Given the description of an element on the screen output the (x, y) to click on. 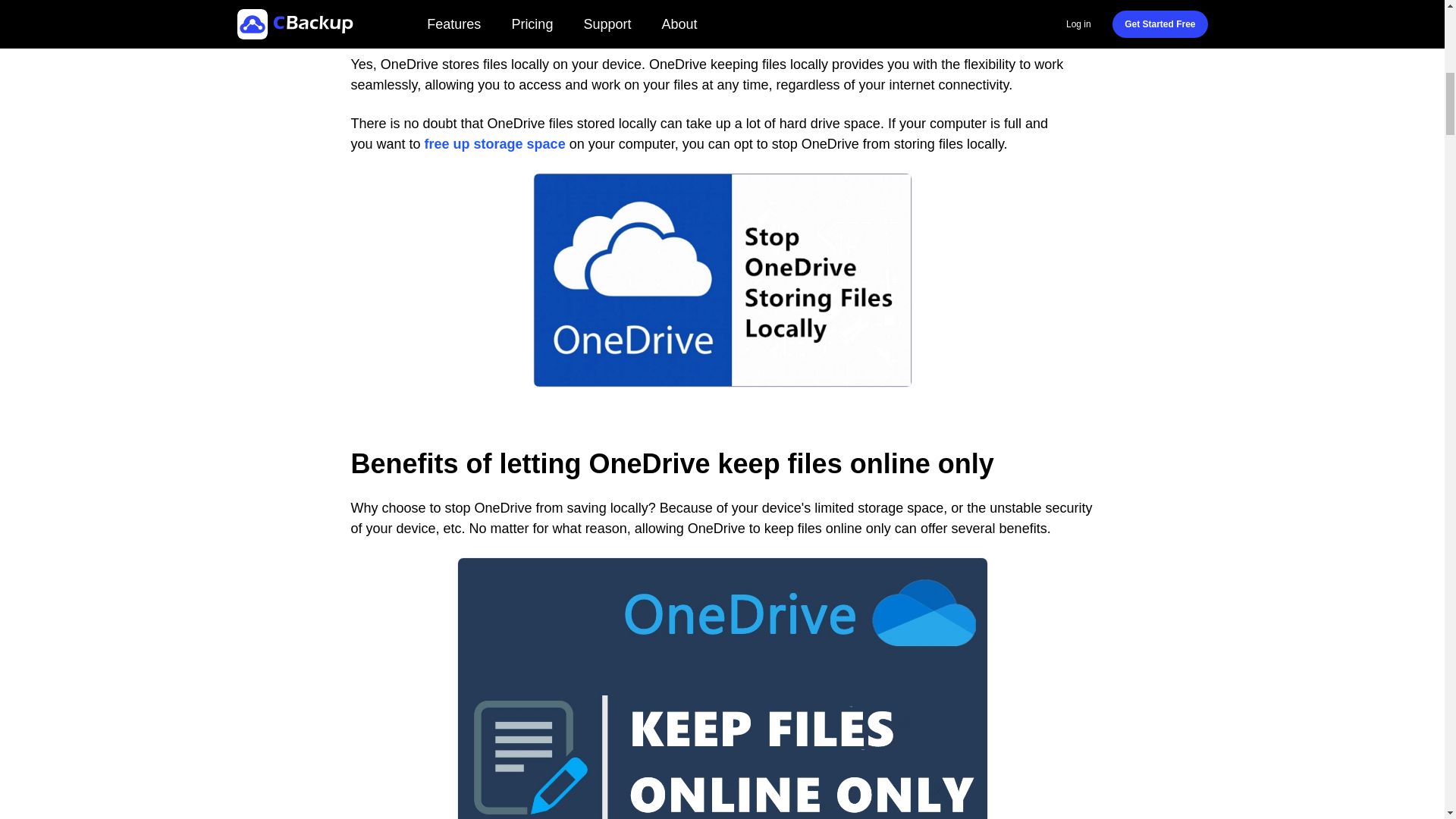
free up storage space (495, 144)
